Given the description of an element on the screen output the (x, y) to click on. 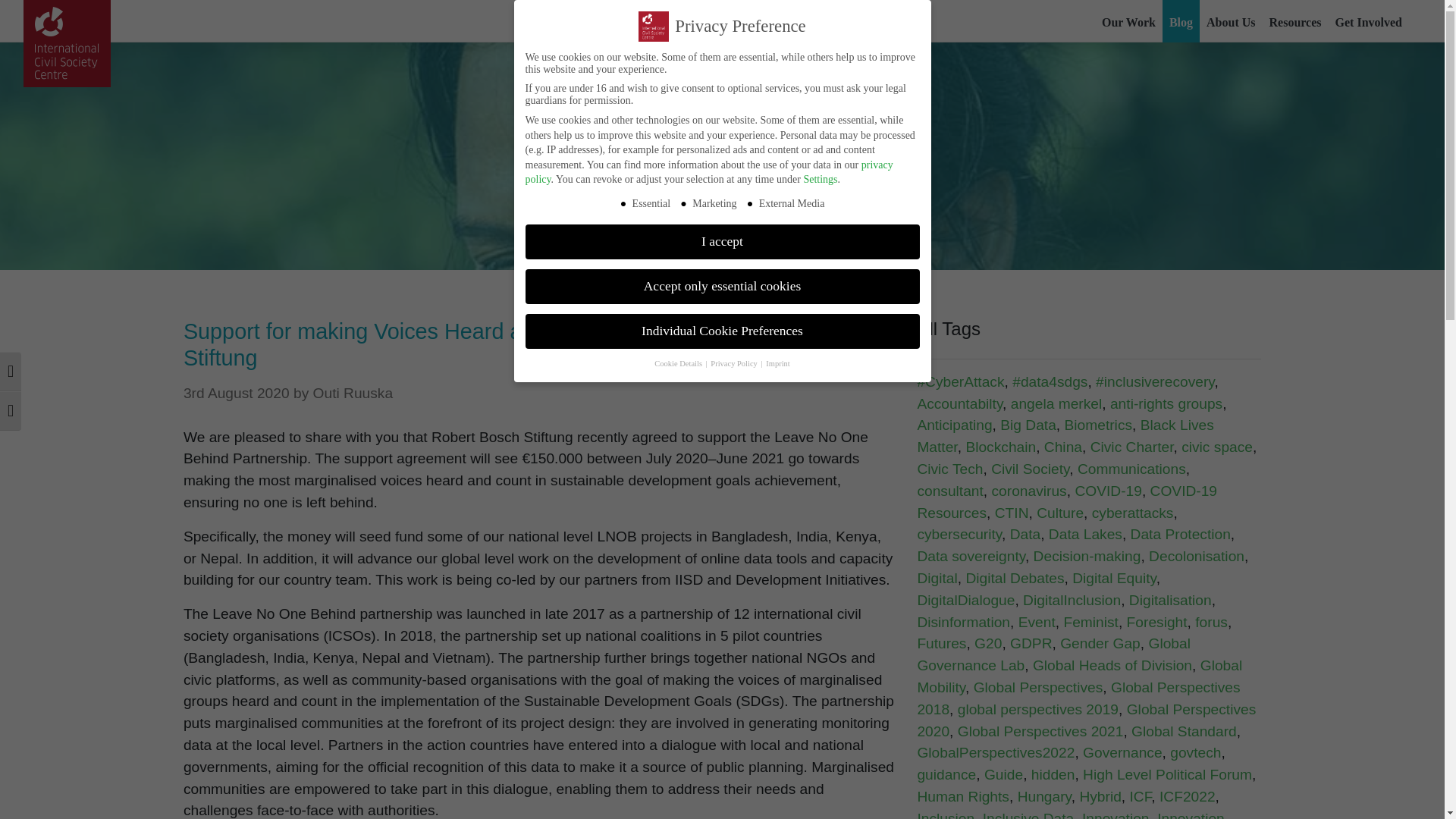
Black Lives Matter (1064, 435)
coronavirus (1029, 490)
Big Data (1028, 424)
anti-rights groups (1166, 403)
Biometrics (1098, 424)
CTIN (1011, 512)
About Us (1230, 21)
Blockchain (1000, 446)
COVID-19 Resources (1067, 501)
Communications (1131, 468)
